Given the description of an element on the screen output the (x, y) to click on. 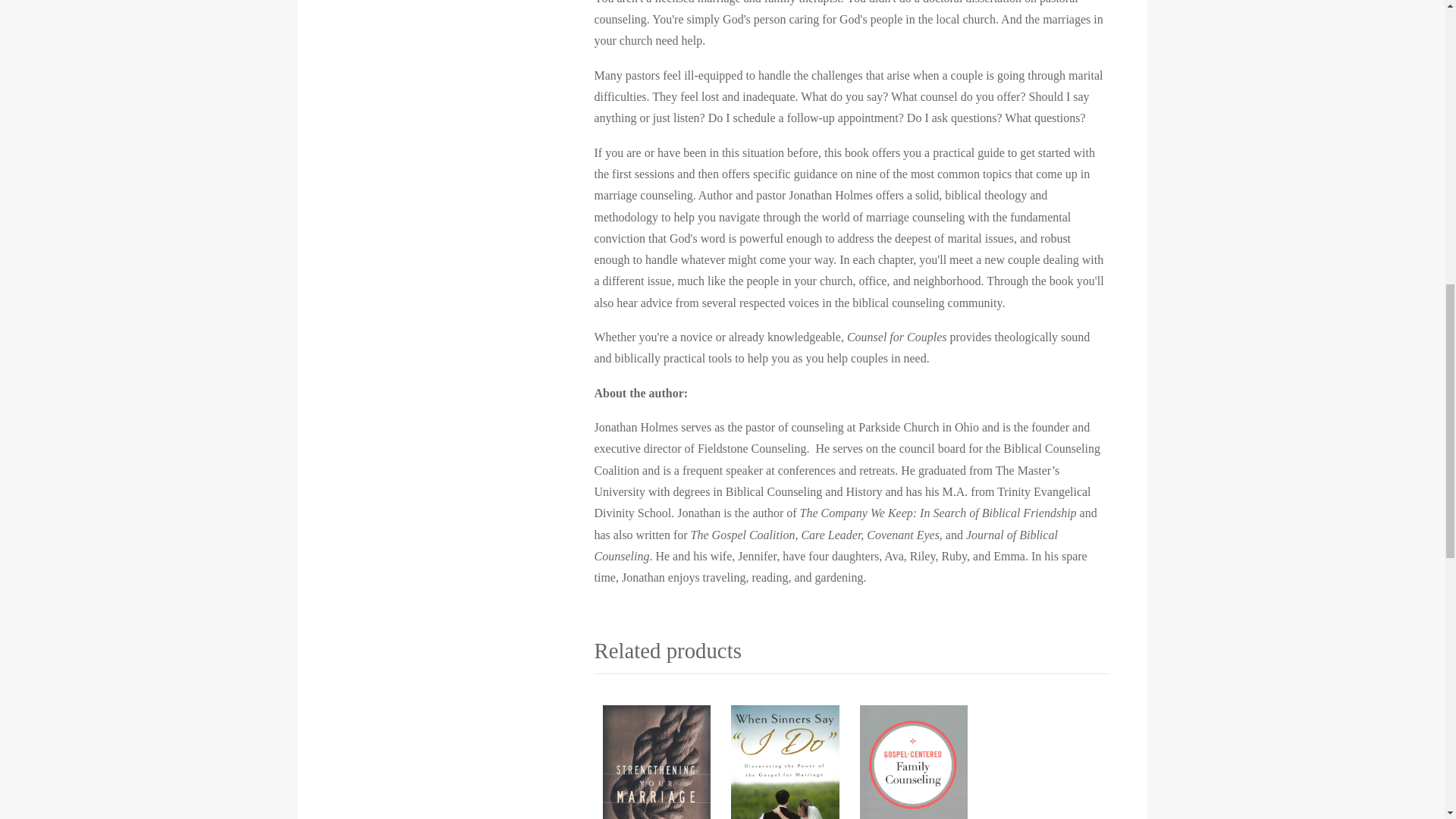
When Sinners Say "I Do" (784, 758)
Gospel-Centered Family Counseling (913, 758)
Strengthening Your Marriage (656, 758)
